Given the description of an element on the screen output the (x, y) to click on. 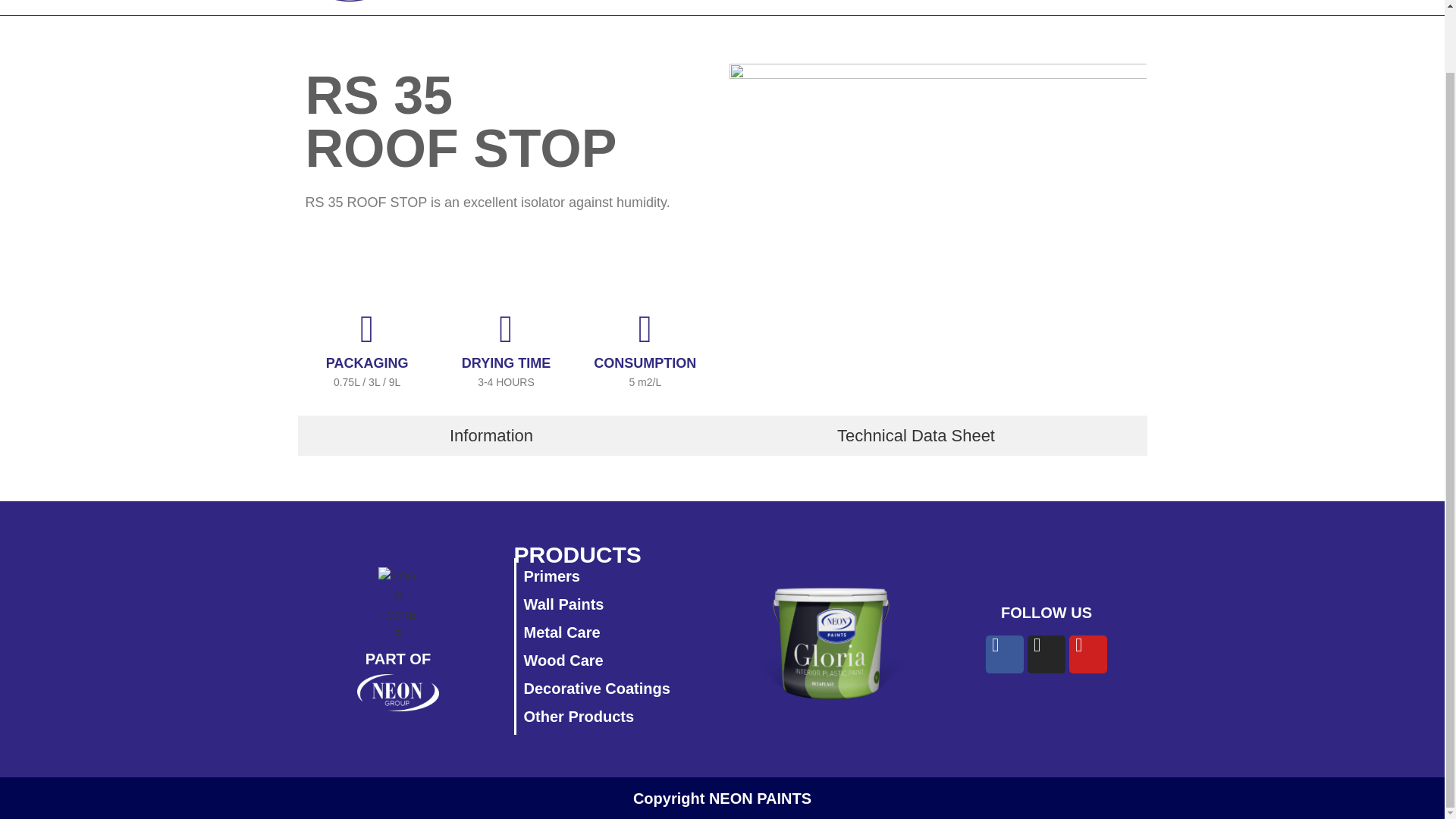
Company (620, 2)
Products (719, 2)
Home (535, 2)
Contact Us (821, 2)
